Given the description of an element on the screen output the (x, y) to click on. 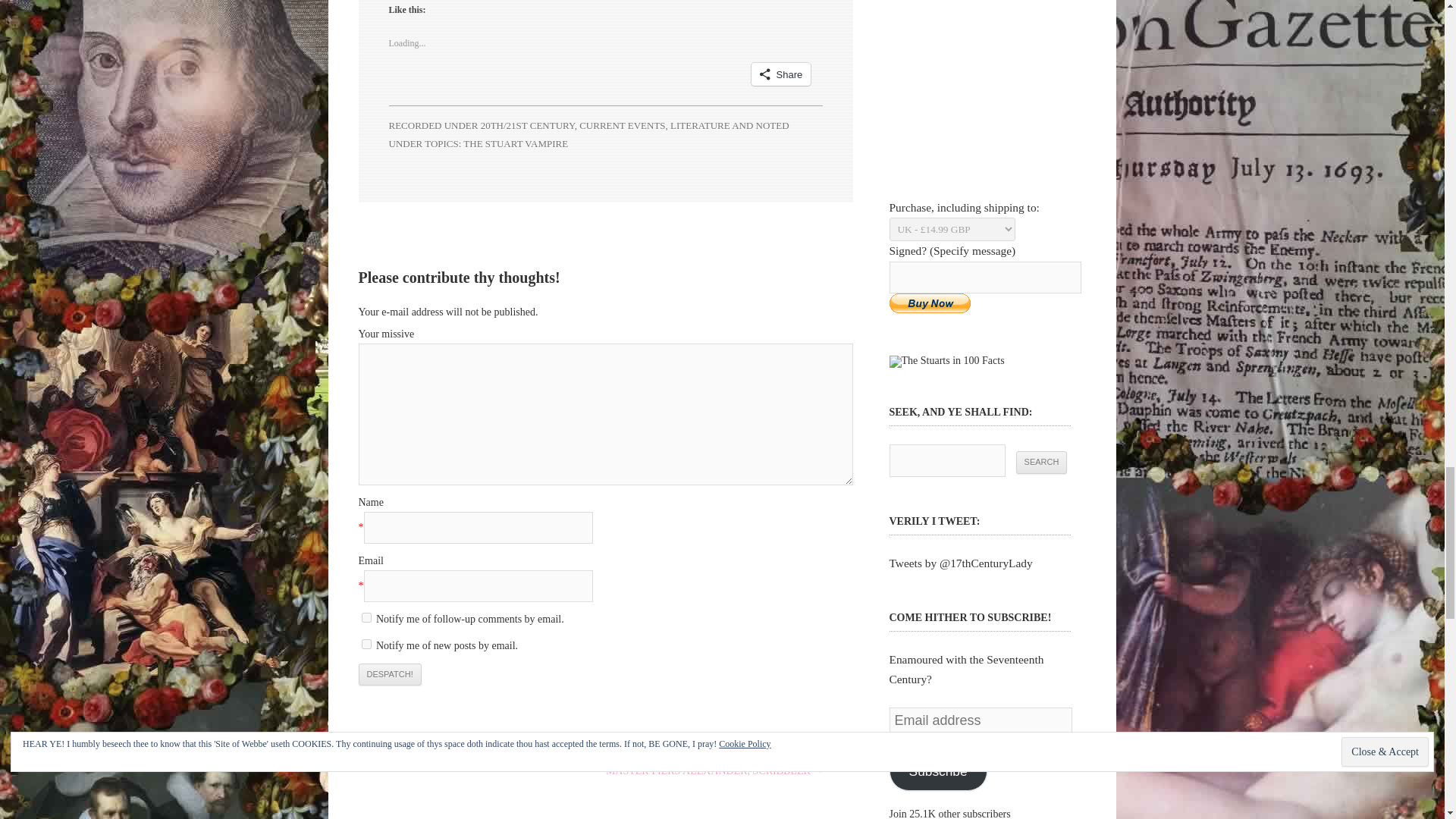
Share (780, 74)
CURRENT EVENTS (622, 125)
Despatch! (389, 674)
subscribe (366, 644)
subscribe (366, 617)
Despatch! (389, 674)
LITERATURE (699, 125)
Search (1041, 462)
THE STUART VAMPIRE (515, 143)
